Given the description of an element on the screen output the (x, y) to click on. 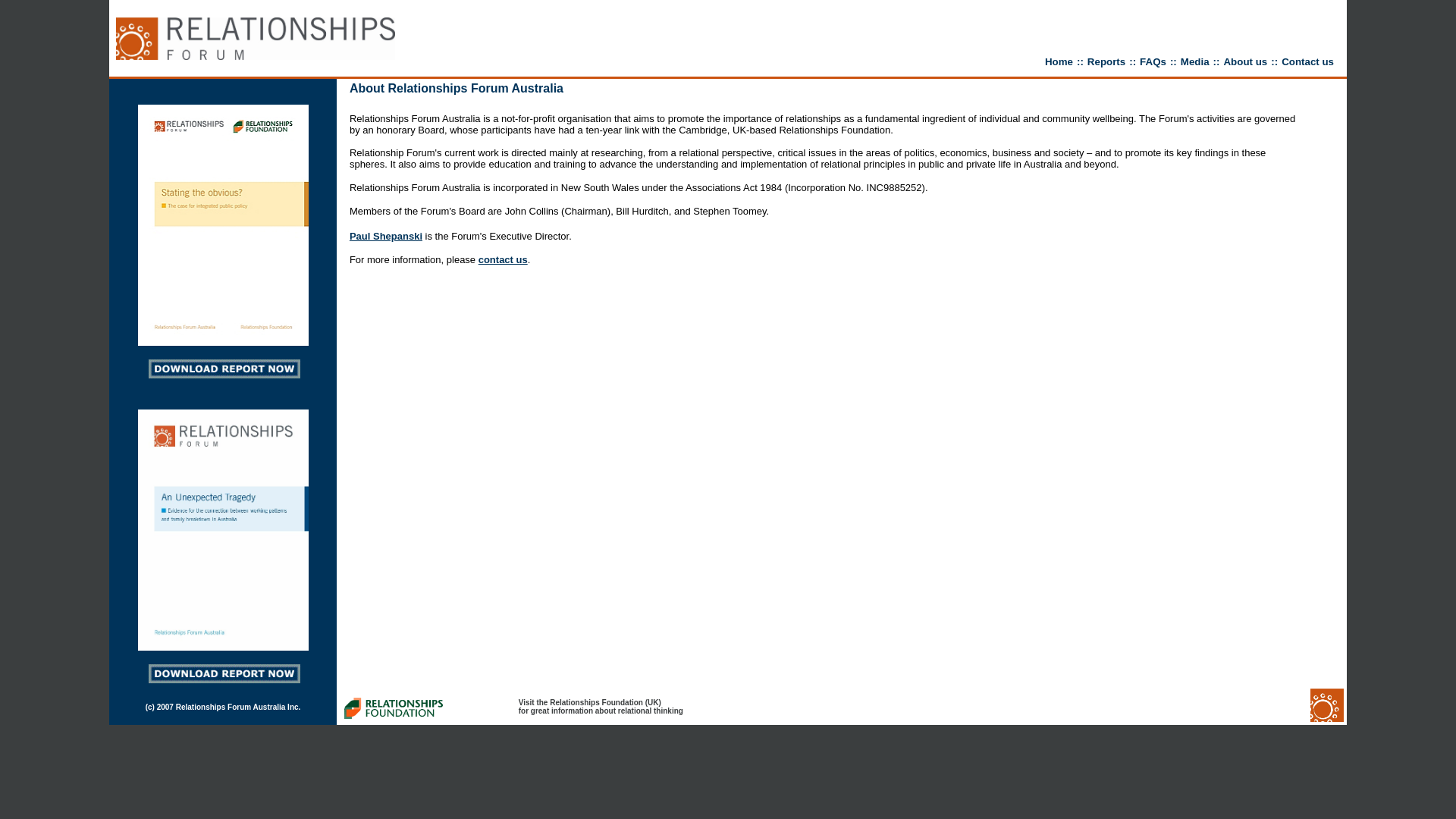
contact us Element type: text (502, 259)
Home Element type: text (1058, 61)
Paul Shepanski Element type: text (385, 235)
FAQs Element type: text (1152, 61)
About us Element type: text (1245, 61)
Media Element type: text (1194, 61)
Contact us Element type: text (1307, 61)
Reports Element type: text (1106, 61)
